Given the description of an element on the screen output the (x, y) to click on. 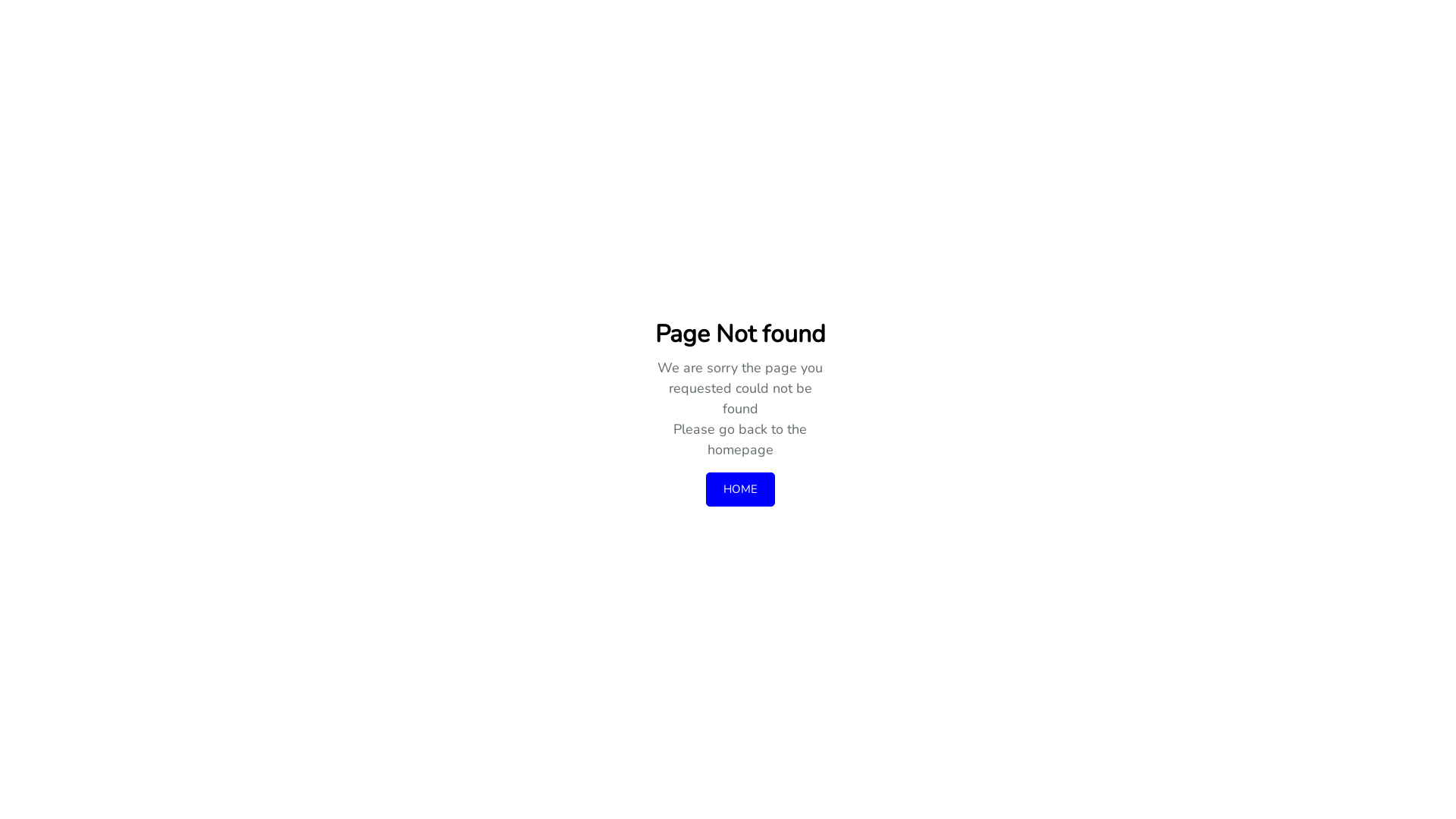
HOME Element type: text (739, 489)
